Given the description of an element on the screen output the (x, y) to click on. 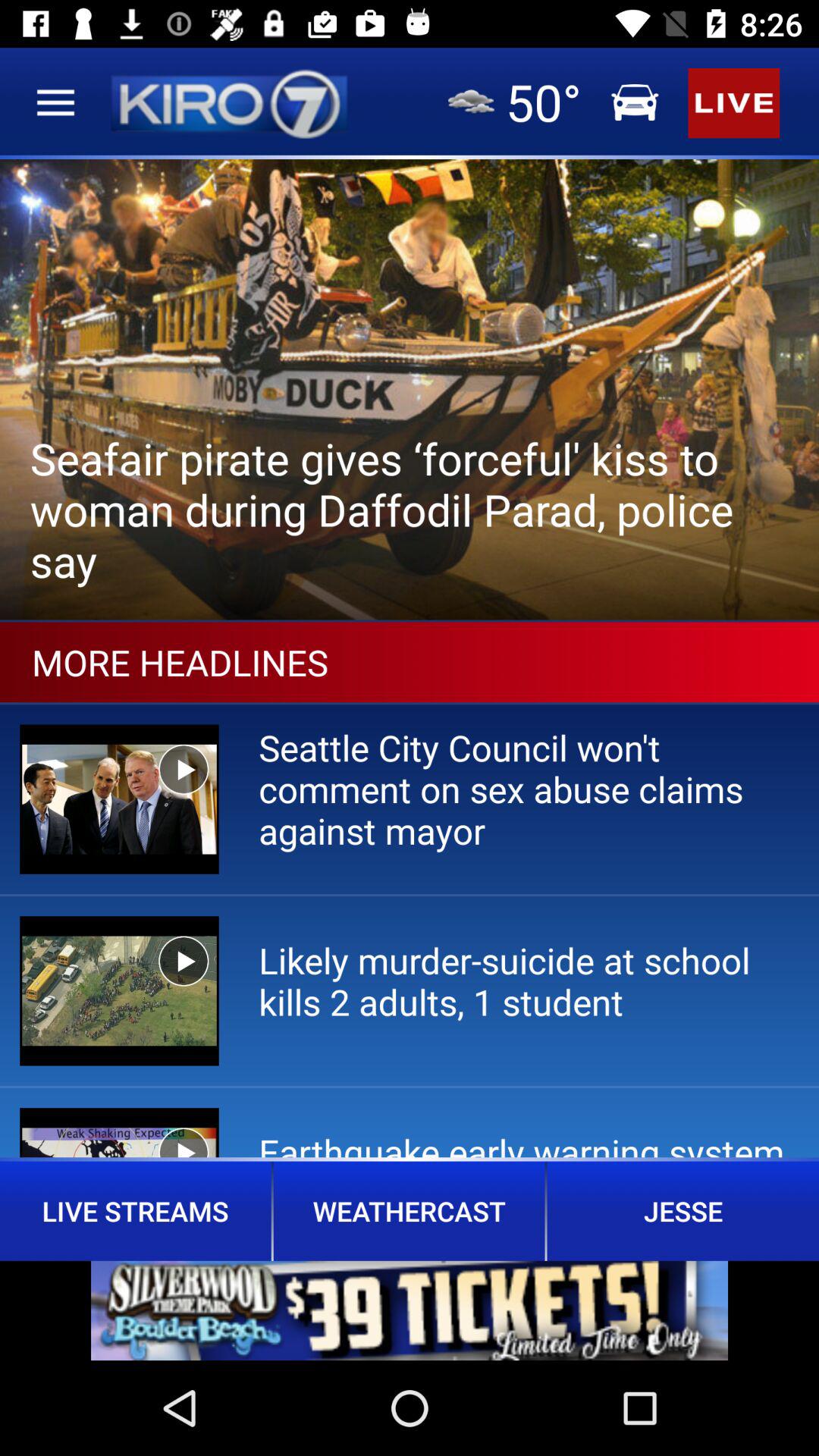
click on play button of second video under more headlines (183, 961)
click on the second image in more headlines (119, 990)
